Given the description of an element on the screen output the (x, y) to click on. 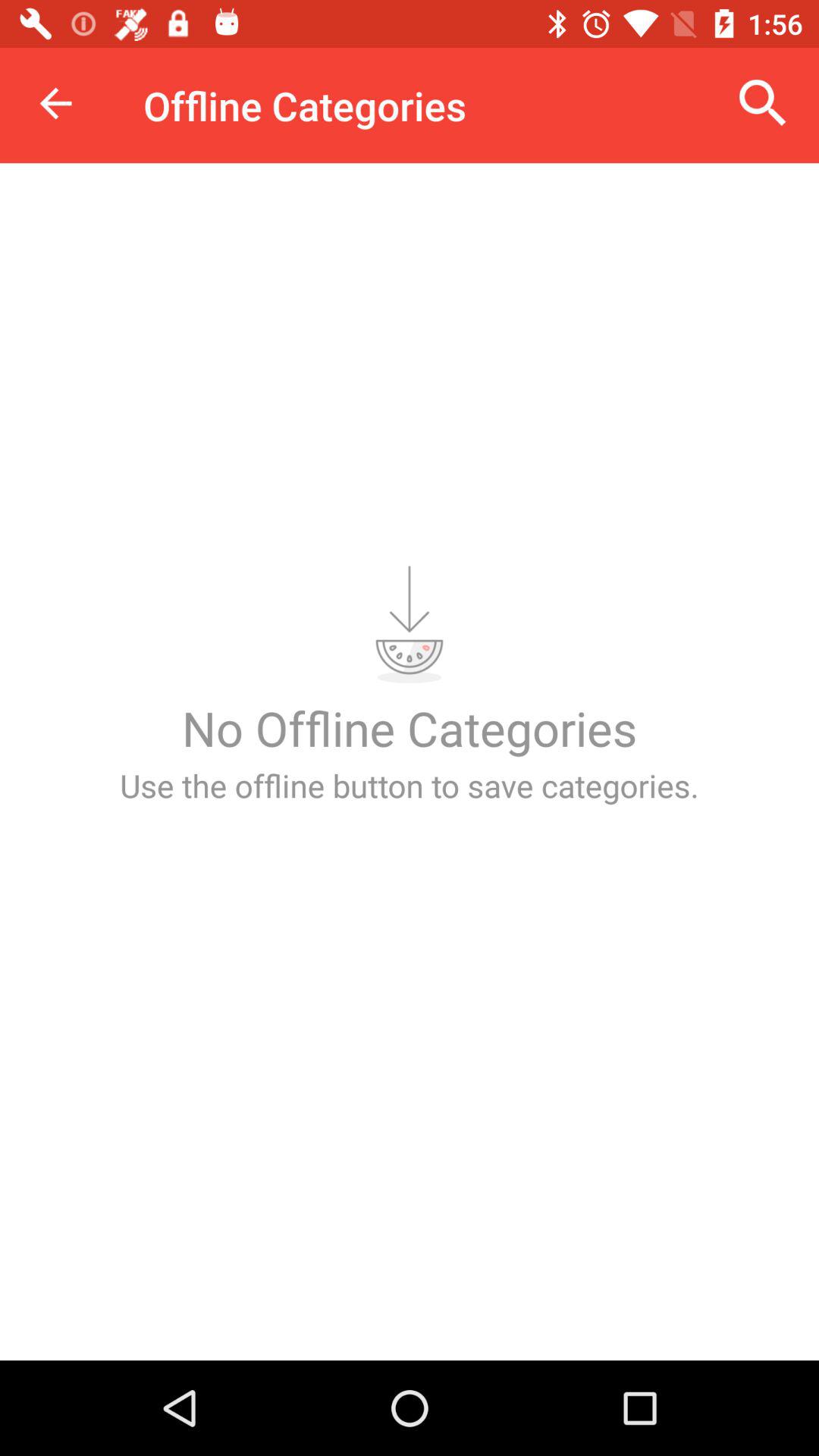
launch the item to the right of offline categories (763, 103)
